Given the description of an element on the screen output the (x, y) to click on. 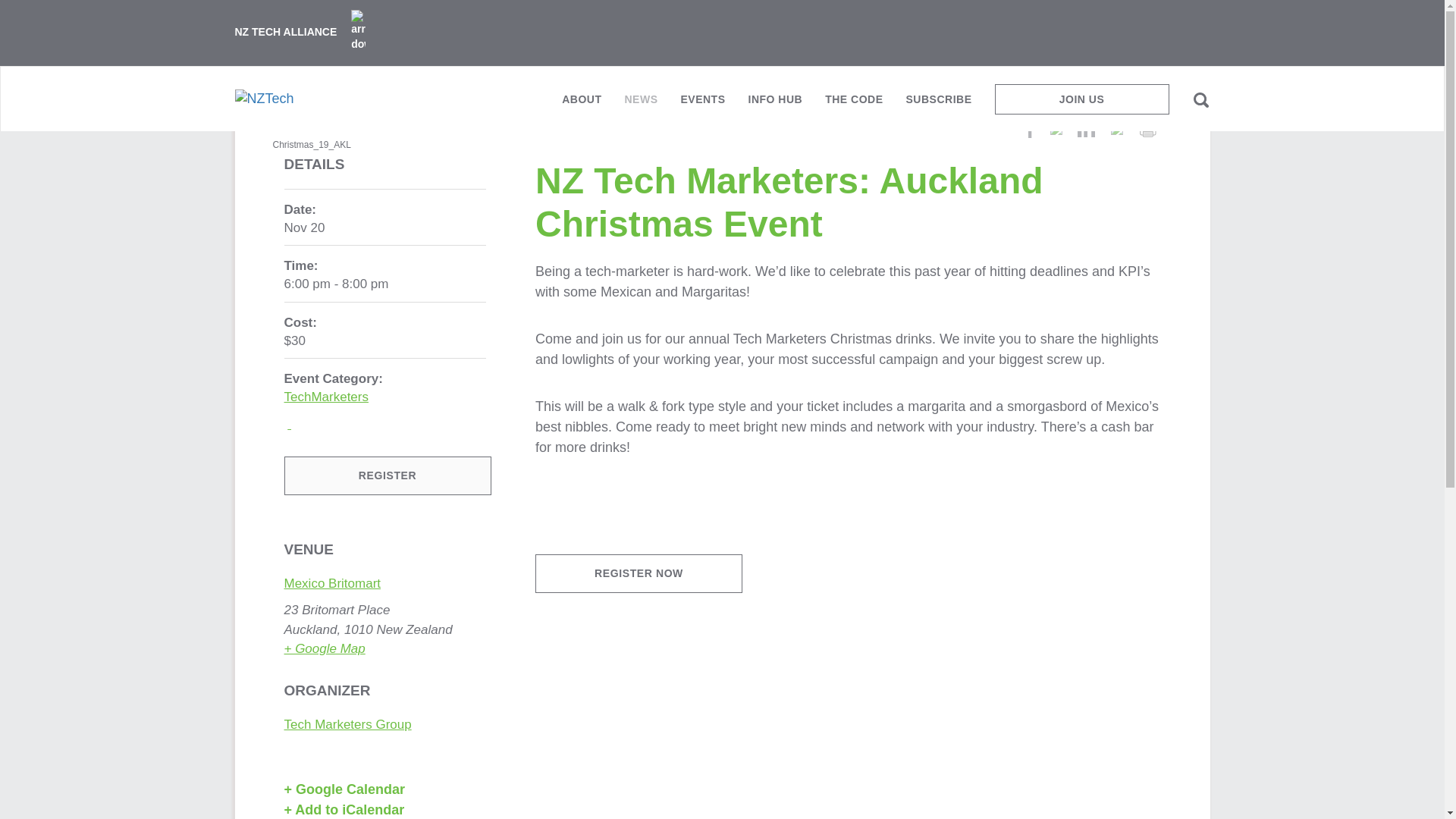
ABOUT (581, 104)
2019-11-20 (384, 284)
Click to view a Google Map (324, 648)
Add to Google Calendar (381, 789)
Download .ics file (384, 809)
2019-11-20 (303, 227)
Print this page (1147, 128)
NZTech (264, 98)
